Given the description of an element on the screen output the (x, y) to click on. 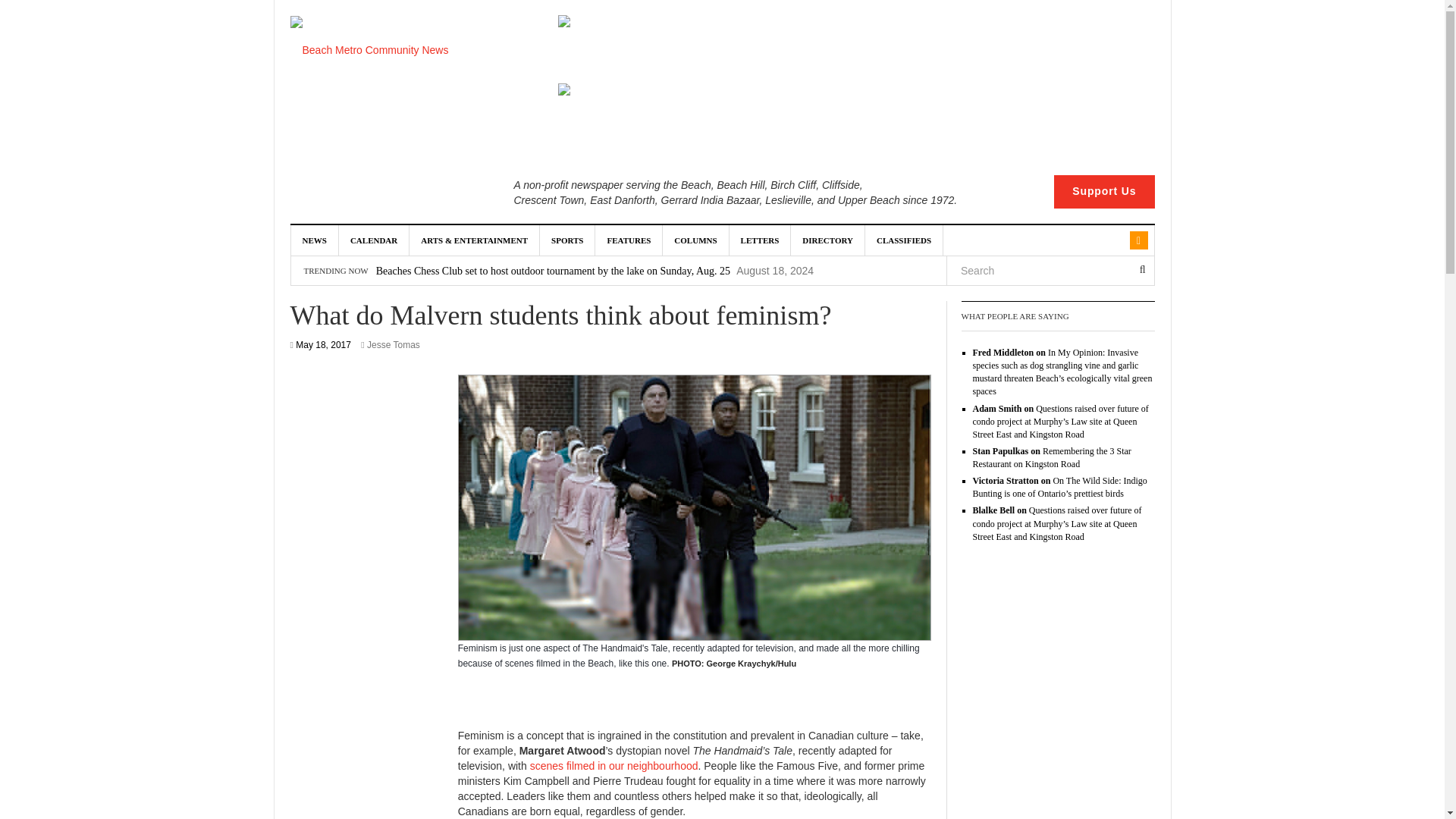
Support Us (1104, 191)
Share On Facebook (477, 710)
SPORTS (567, 240)
Support Us (1104, 191)
NEWS (315, 240)
Share On Reddit (556, 710)
SOLD IN THE 6IX PODCAST (833, 117)
Beach Metro Community News (368, 49)
Share On Twitter (516, 710)
CALENDAR (374, 240)
